Given the description of an element on the screen output the (x, y) to click on. 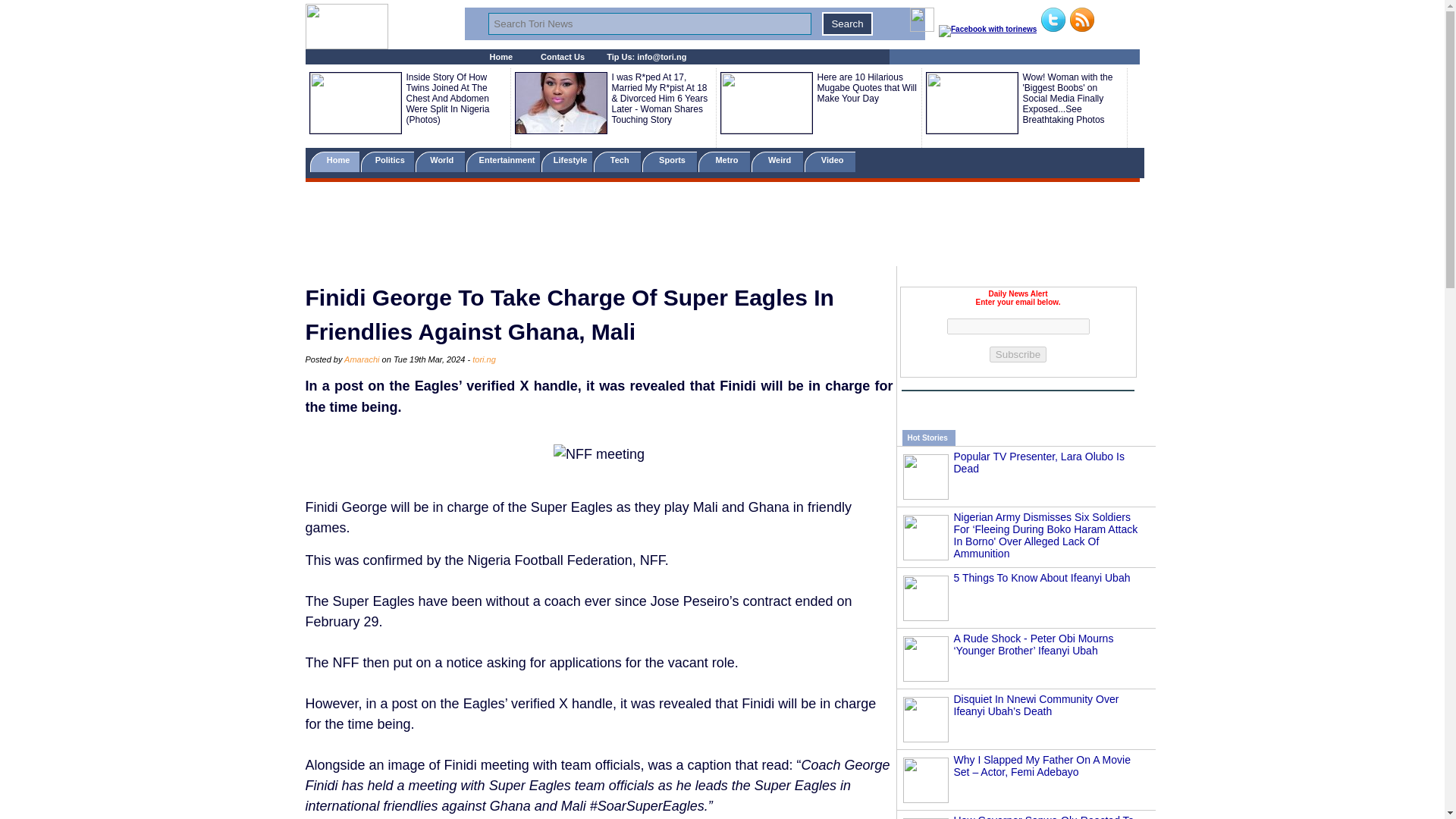
    Tech      (617, 161)
Home (501, 56)
Contact Us (562, 56)
5 Things To Know About Ifeanyi Ubah (1042, 577)
    Home     (333, 161)
  Lifestyle   (566, 161)
    Metro      (723, 161)
Search (847, 24)
Search Tori News (648, 24)
Click To Search (847, 24)
    Sports      (669, 161)
    Video      (830, 161)
   Politics     (387, 161)
Here are 10 Hilarious Mugabe Quotes that Will Make Your Day (866, 88)
